Given the description of an element on the screen output the (x, y) to click on. 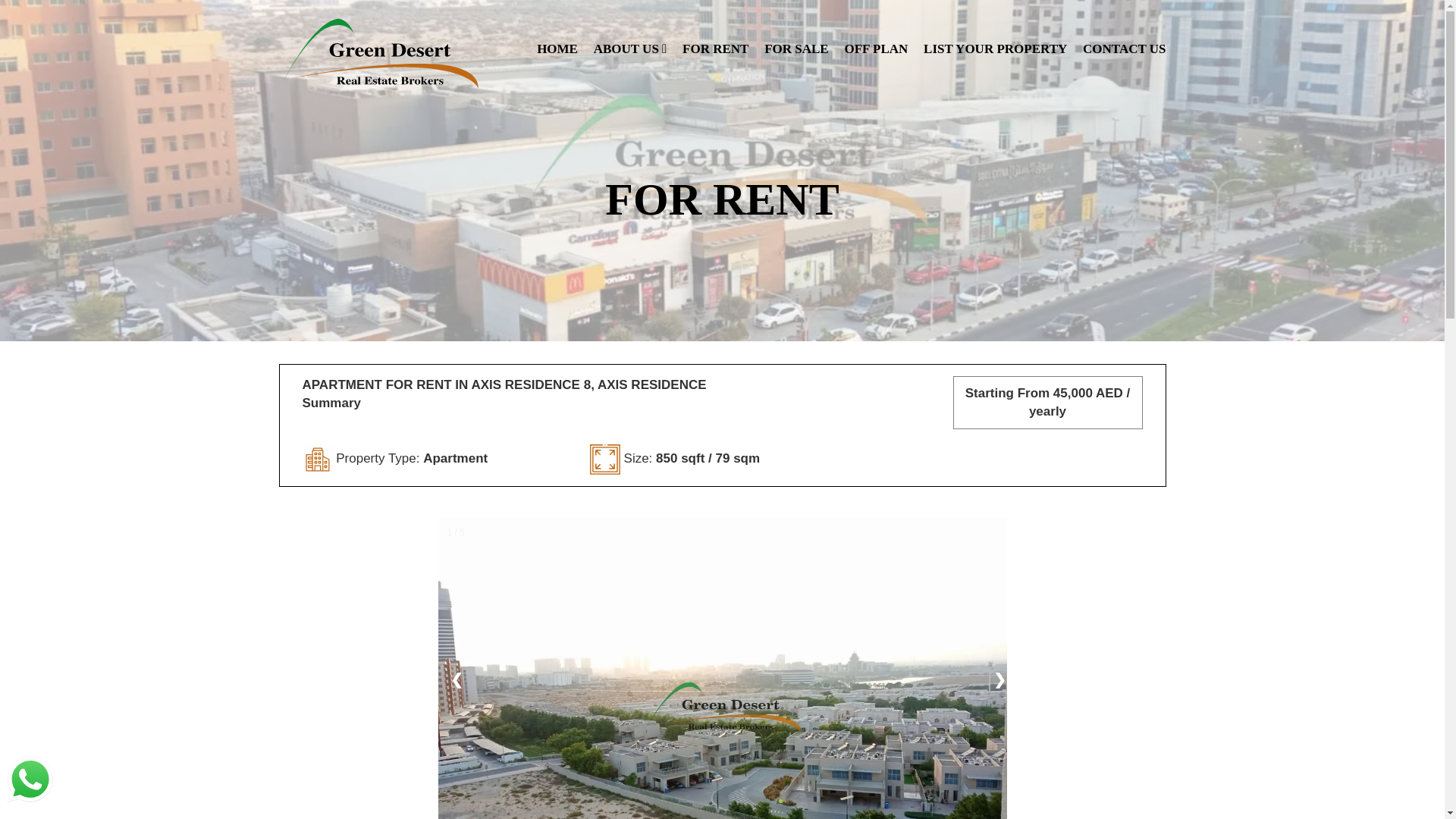
OFF PLAN (875, 33)
ABOUT US (630, 33)
FOR RENT (715, 33)
LIST YOUR PROPERTY (995, 33)
FOR SALE (796, 33)
CONTACT US (1124, 33)
